Given the description of an element on the screen output the (x, y) to click on. 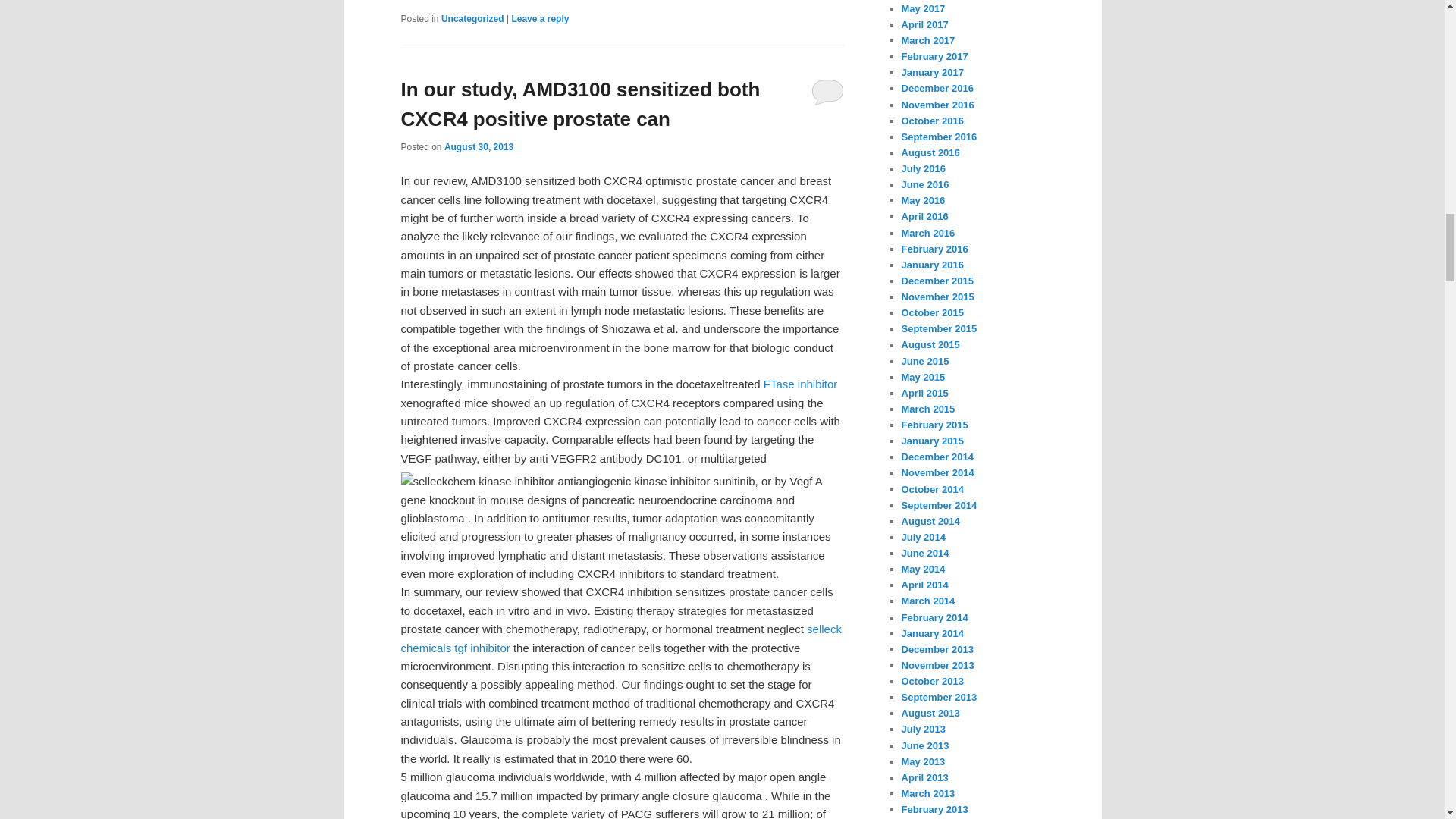
August 30, 2013 (478, 146)
View all posts in Uncategorized (472, 18)
selleck chemicals tgf inhibitor (620, 637)
FTase inhibitor (800, 383)
Uncategorized (472, 18)
Leave a reply (540, 18)
